Given the description of an element on the screen output the (x, y) to click on. 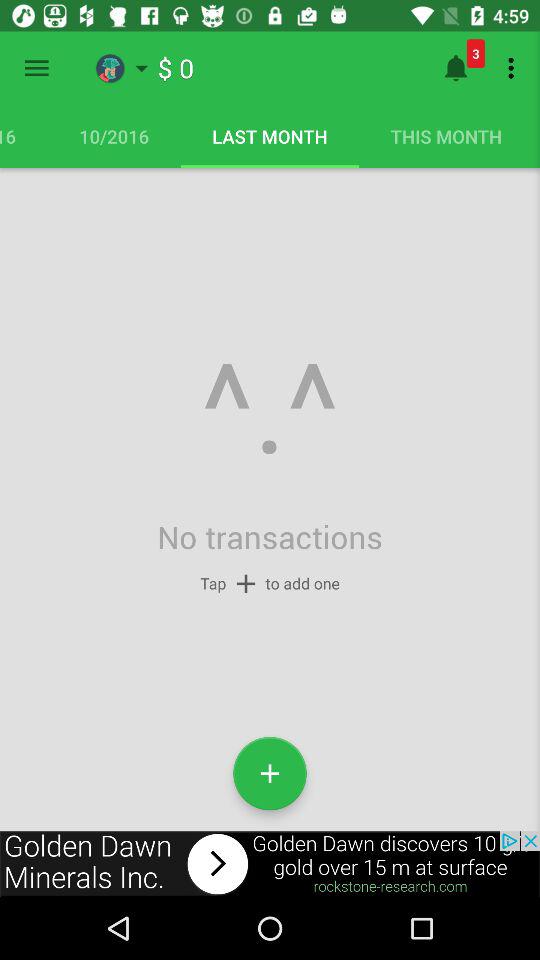
menu button (36, 68)
